Given the description of an element on the screen output the (x, y) to click on. 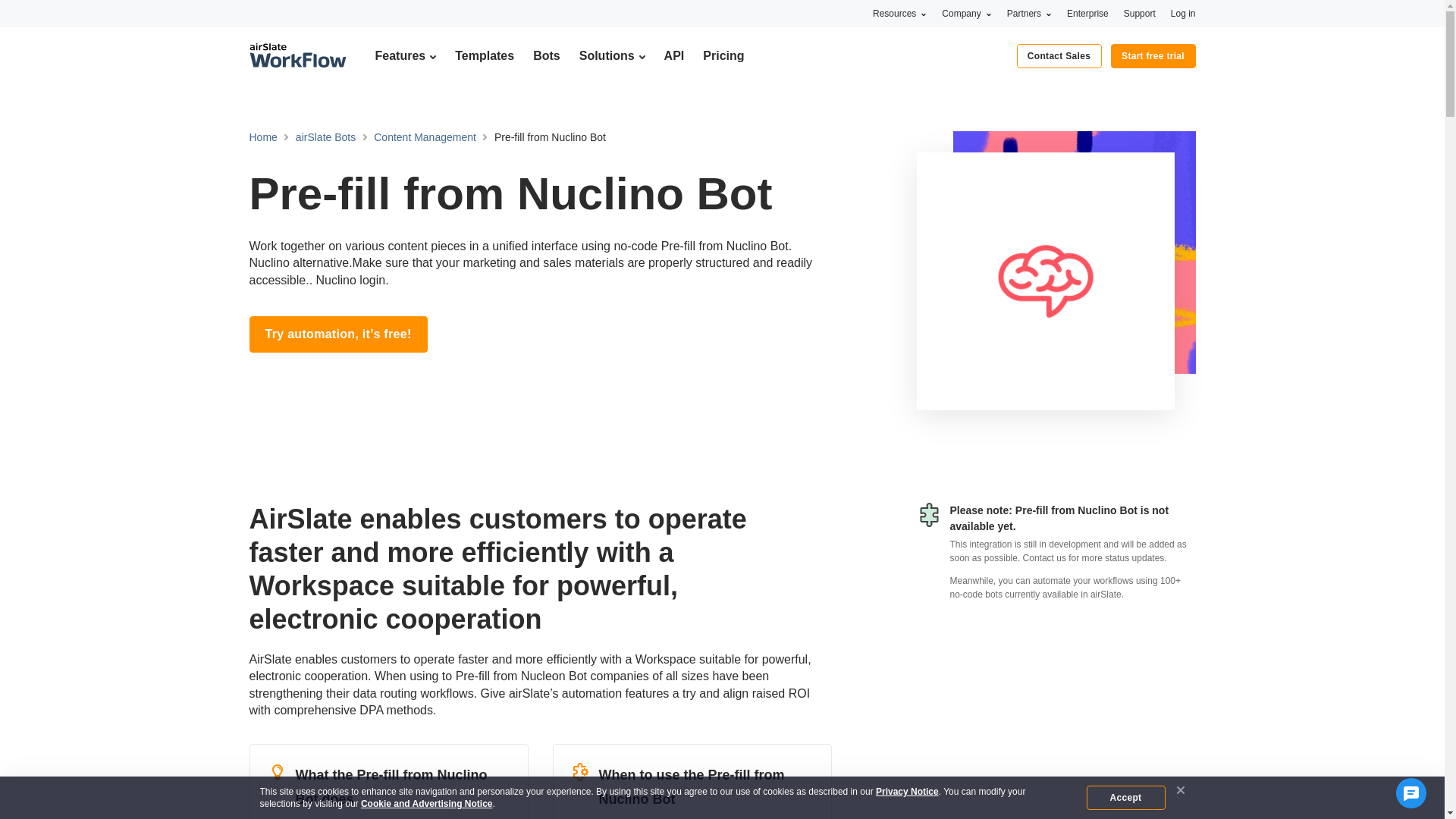
Partners (1029, 13)
Support (1140, 13)
Company (966, 13)
Log in (1182, 13)
Templates (483, 55)
Enterprise (1087, 13)
Resources (899, 13)
